Given the description of an element on the screen output the (x, y) to click on. 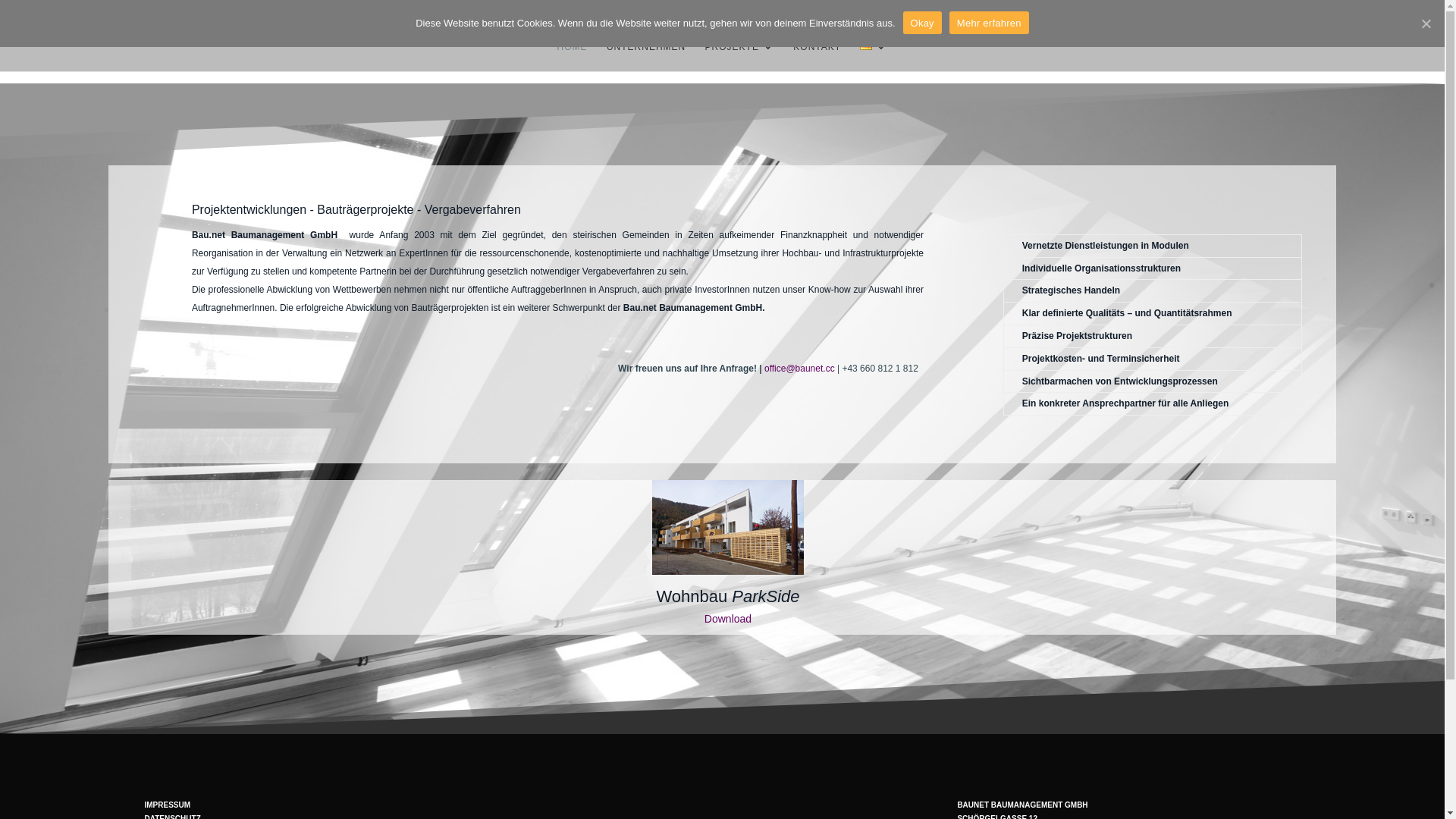
Wohnbau ParkSide Element type: text (727, 595)
HOME Element type: text (572, 56)
Mehr erfahren Element type: text (989, 22)
KONTAKT Element type: text (816, 56)
Okay Element type: text (922, 22)
IMPRESSUM Element type: text (167, 804)
PROJEKTE Element type: text (739, 56)
office@baunet.cc Element type: text (264, 11)
UNTERNEHMEN Element type: text (645, 56)
Download Element type: text (727, 618)
office@baunet.cc Element type: text (799, 368)
